Given the description of an element on the screen output the (x, y) to click on. 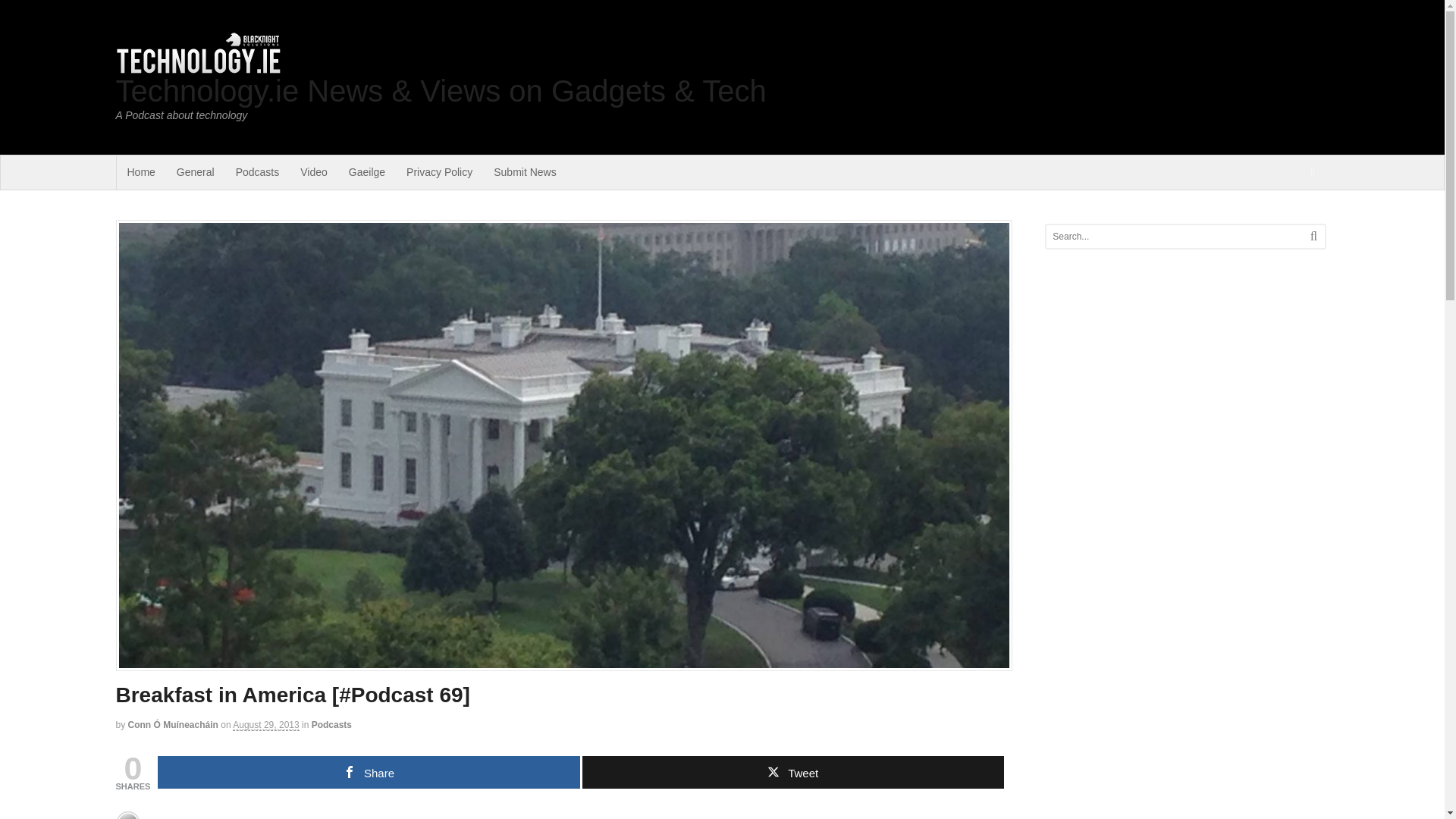
View all items in Podcasts (331, 724)
Podcasts (257, 172)
Privacy Policy (439, 172)
Share (368, 771)
Submit News (524, 172)
Gaeilge (366, 172)
Podcasts (331, 724)
Tweet (793, 771)
General (195, 172)
Search... (1170, 236)
